Given the description of an element on the screen output the (x, y) to click on. 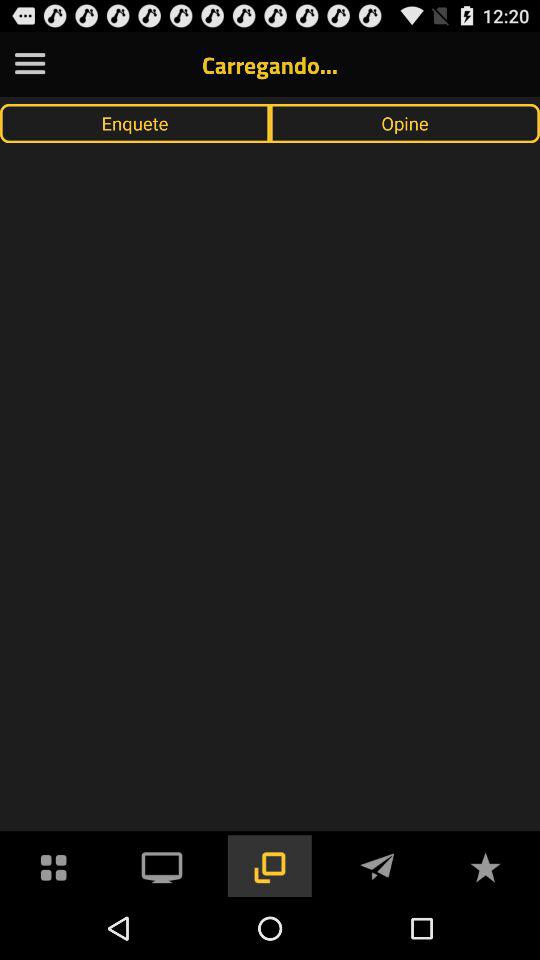
launch the opine button (405, 123)
